Given the description of an element on the screen output the (x, y) to click on. 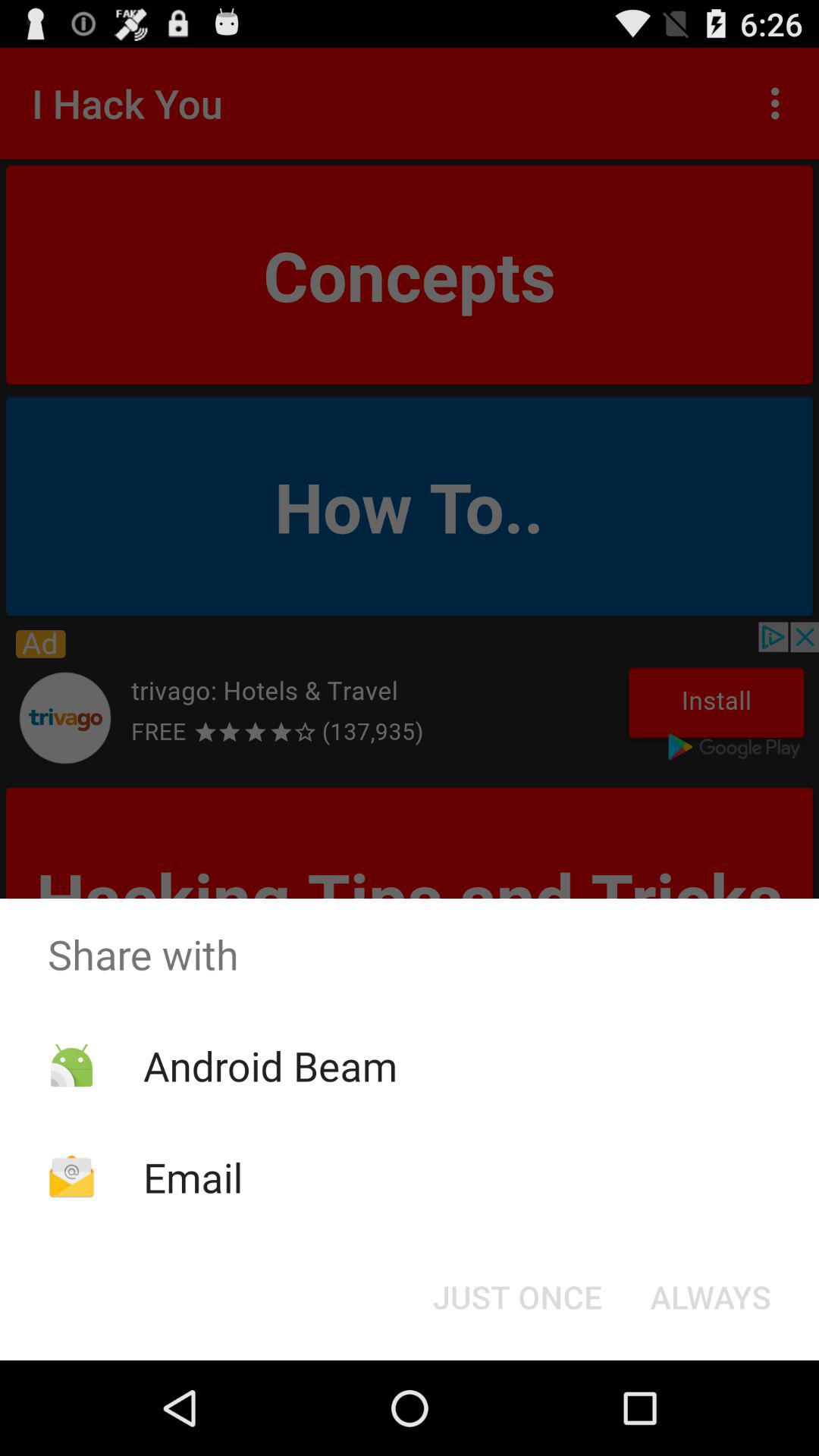
jump to the android beam app (270, 1065)
